Given the description of an element on the screen output the (x, y) to click on. 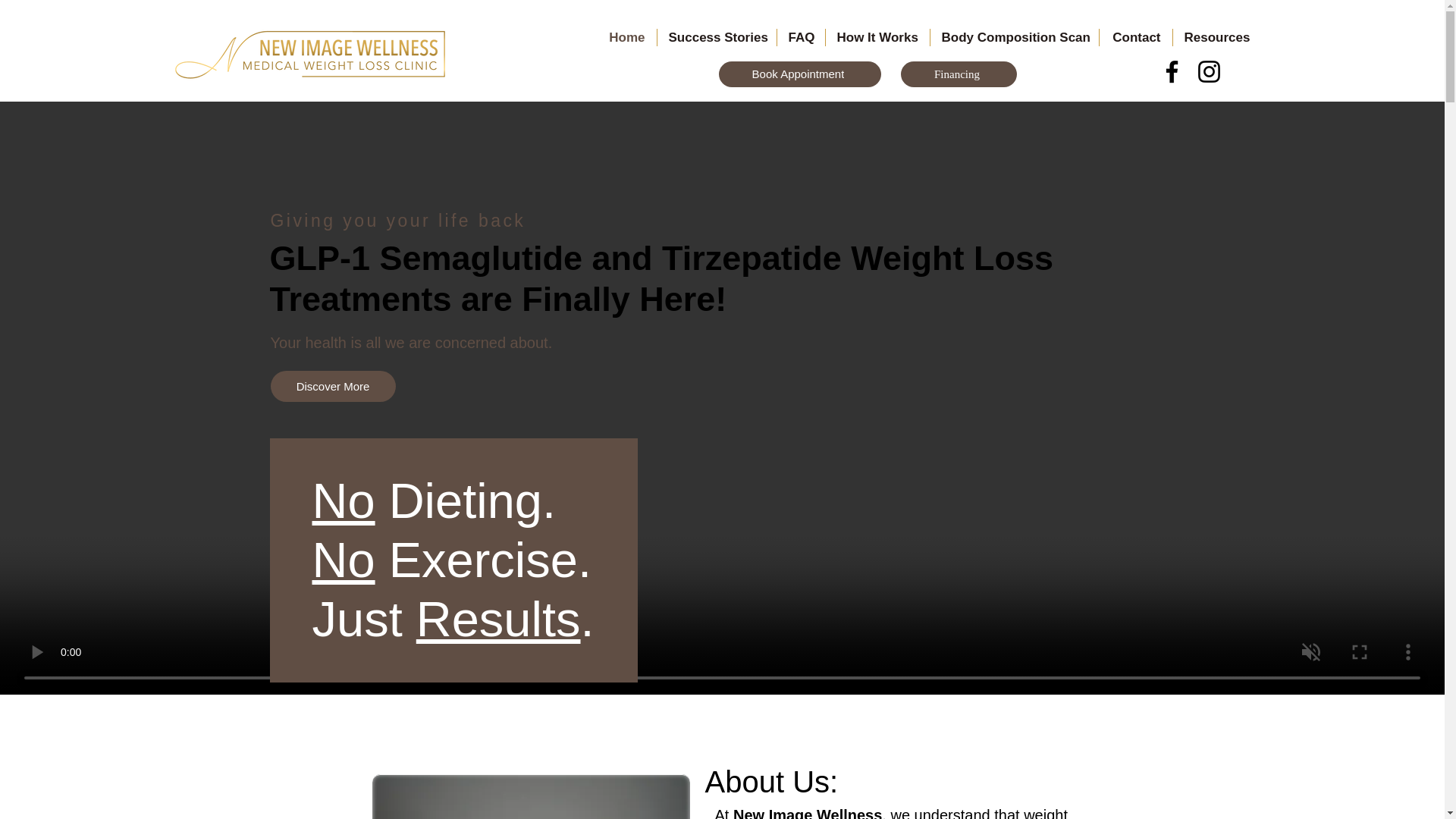
Resources (1215, 36)
Home (625, 36)
How It Works (876, 36)
Financing (958, 73)
Discover More (331, 386)
Book Appointment (799, 73)
Contact (1135, 36)
FAQ (800, 36)
Success Stories (716, 36)
Body Composition Scan (1013, 36)
